Given the description of an element on the screen output the (x, y) to click on. 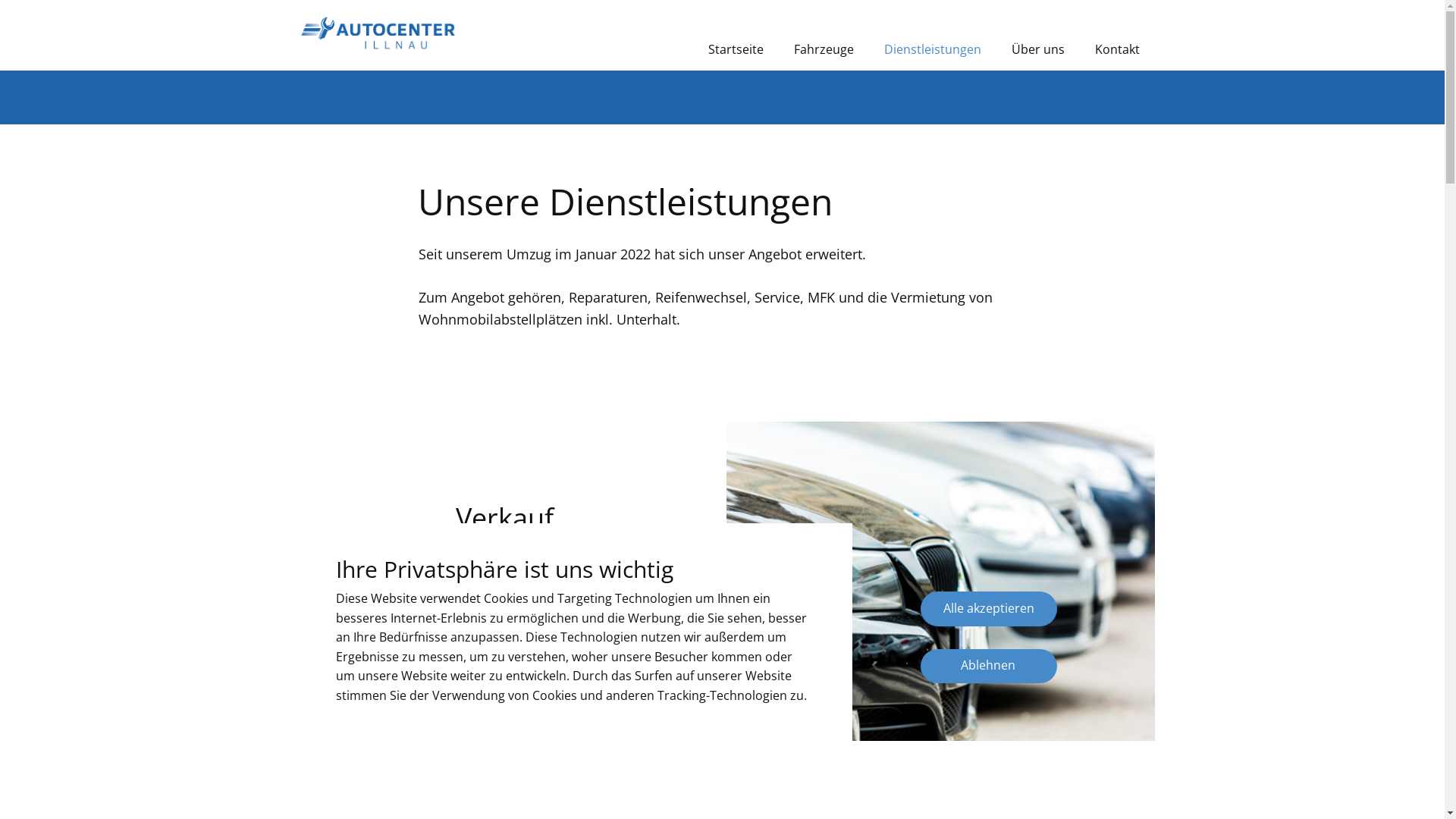
Ablehnen Element type: text (988, 666)
Kontakt Element type: text (1116, 48)
Startseite Element type: text (735, 48)
Fahrzeuge Element type: text (823, 48)
Dienstleistungen Element type: text (932, 48)
Alle akzeptieren Element type: text (988, 608)
Fahrzeuge Element type: text (504, 642)
Startseite Element type: hover (377, 35)
